Given the description of an element on the screen output the (x, y) to click on. 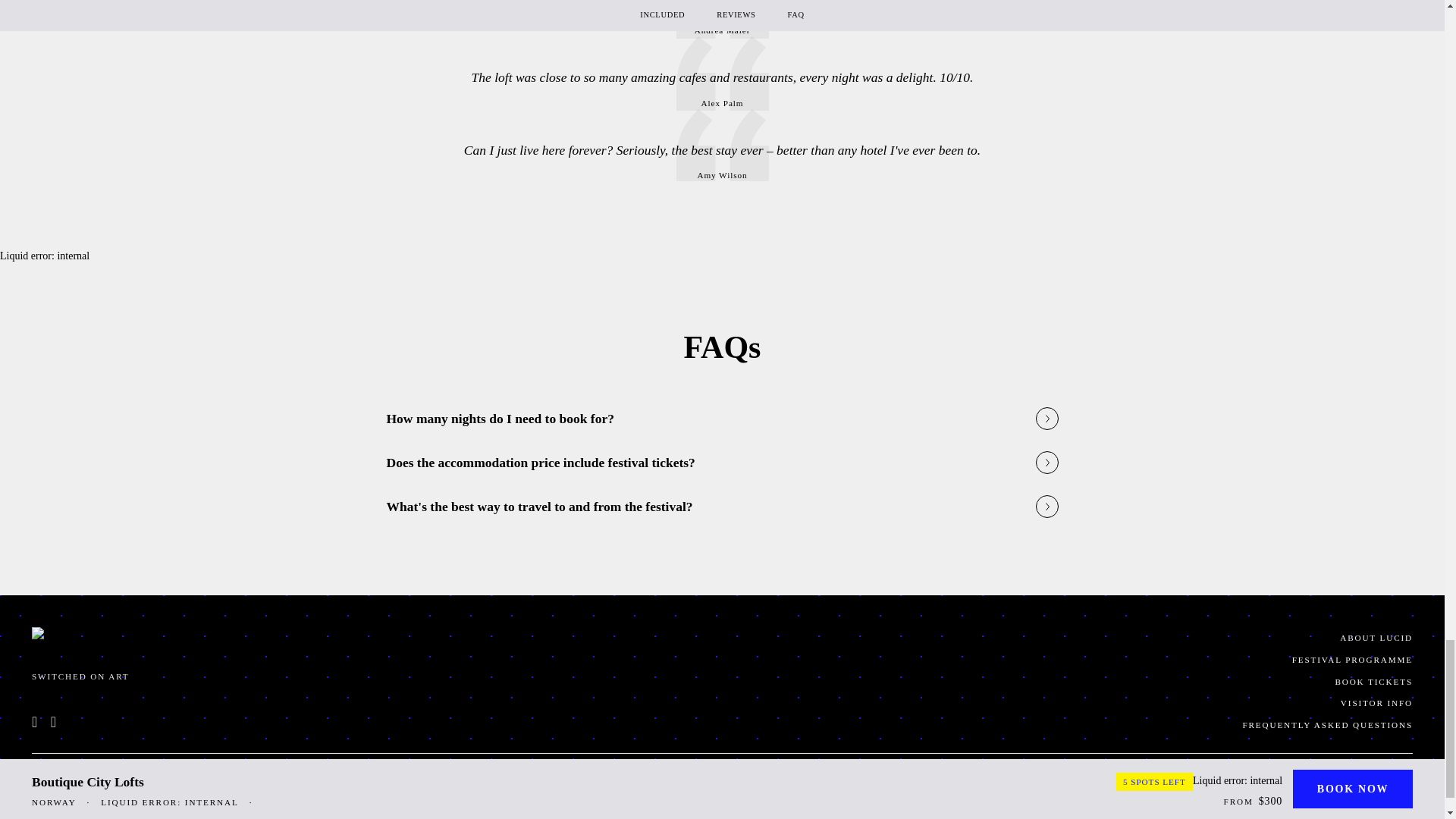
ABOUT LUCID (1073, 638)
FREQUENTLY ASKED QUESTIONS (1073, 725)
BOOK TICKETS (1073, 681)
VISITOR INFO (1073, 703)
FESTIVAL PROGRAMME (1073, 659)
